Given the description of an element on the screen output the (x, y) to click on. 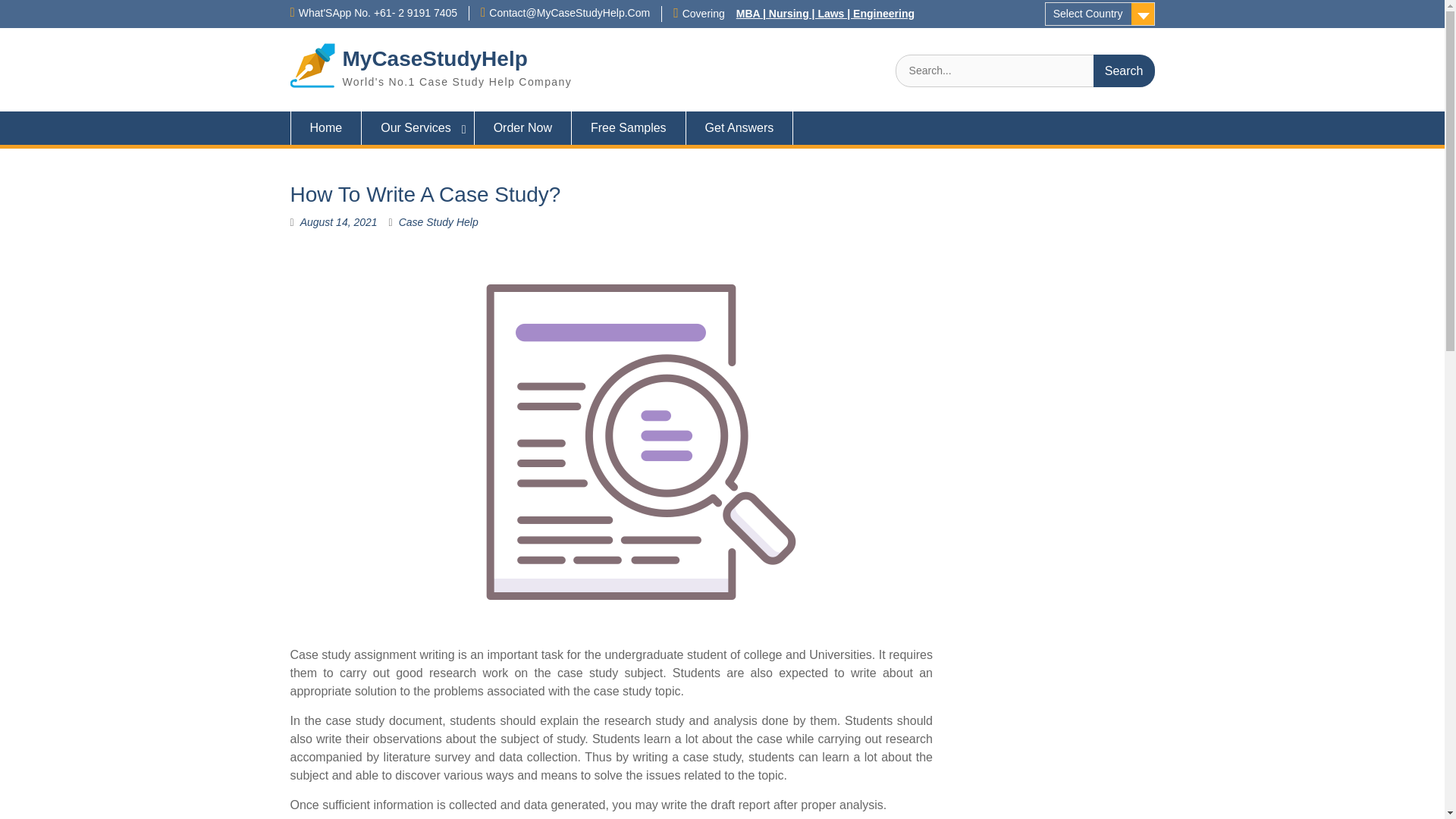
Free Samples (628, 127)
Search (1123, 70)
MyCaseStudyHelp (434, 58)
Home (325, 127)
Get Answers (739, 127)
August 14, 2021 (338, 222)
Search (1123, 70)
Select Country (1099, 13)
Order Now (523, 127)
Search (1123, 70)
Search for: (1024, 70)
Our Services (417, 127)
